Given the description of an element on the screen output the (x, y) to click on. 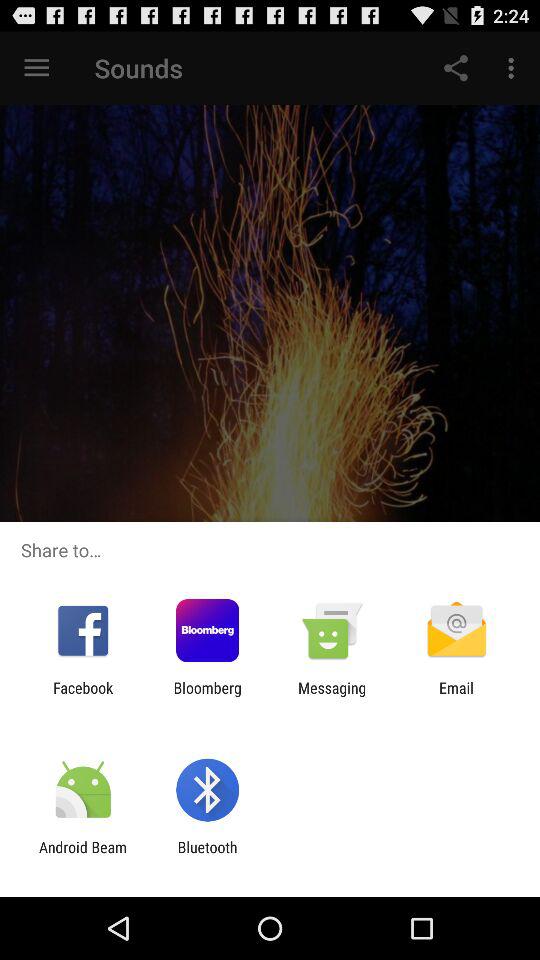
turn on item to the left of bluetooth icon (83, 856)
